Given the description of an element on the screen output the (x, y) to click on. 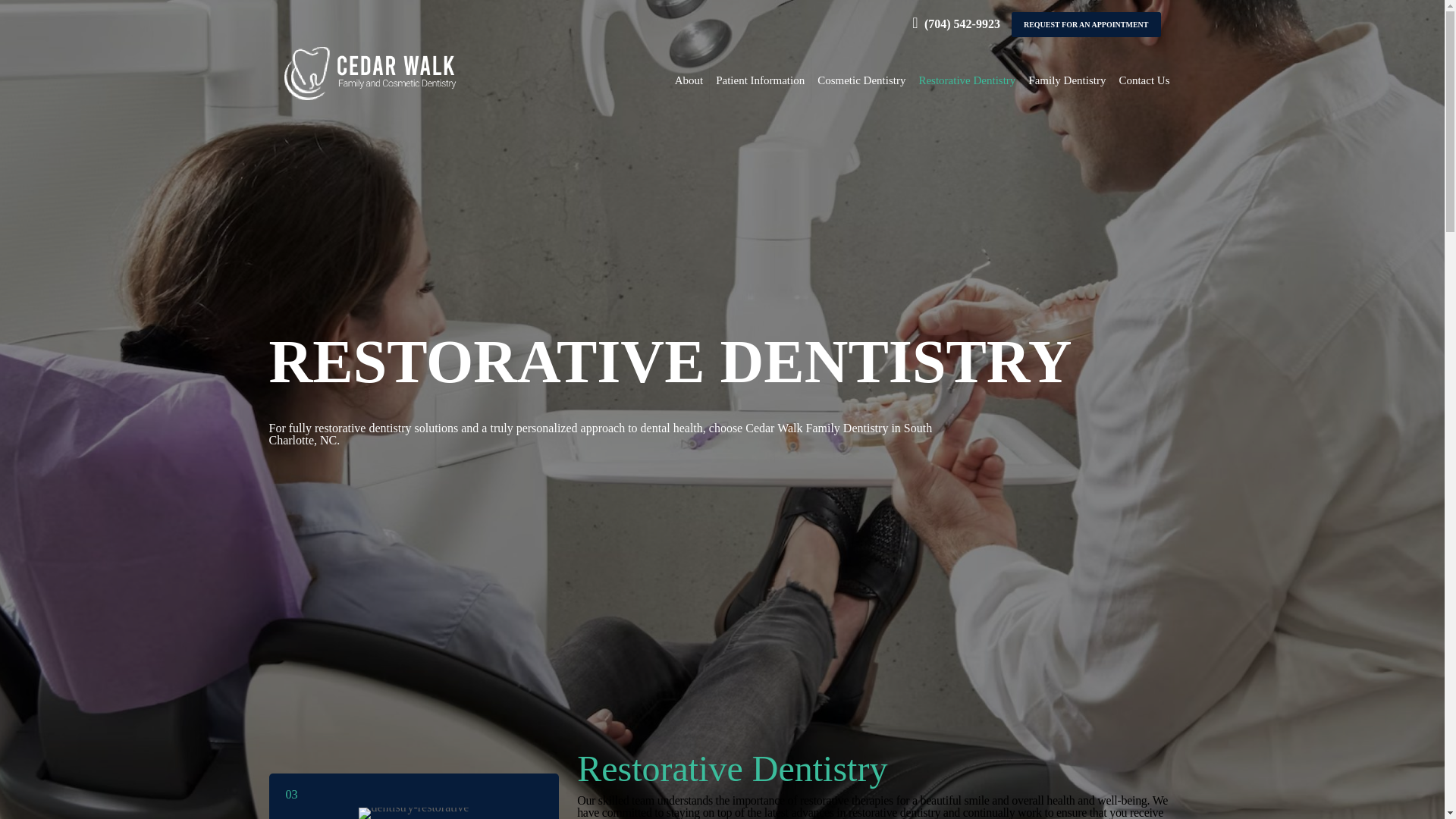
Contact Us (1143, 79)
Patient Information (760, 79)
Family Dentistry (1067, 79)
Cosmetic Dentistry (861, 79)
REQUEST FOR AN APPOINTMENT (1085, 24)
Restorative Dentistry (967, 79)
Cedar Walk Dentistry (370, 72)
